Given the description of an element on the screen output the (x, y) to click on. 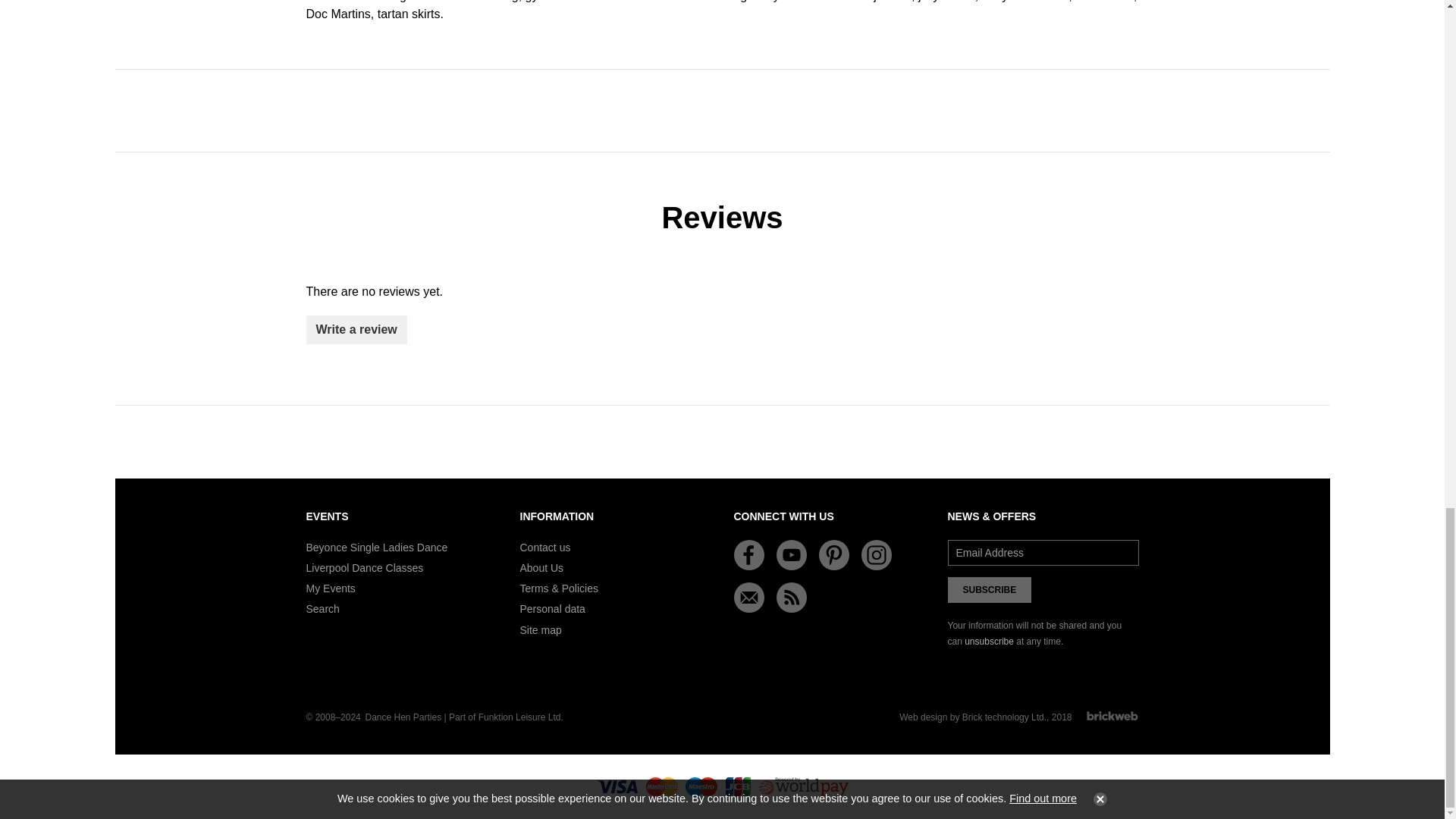
Subscribe (989, 589)
Dance Hen Parties YouTube (791, 554)
Find the event you are looking for (322, 609)
Dance Hen Parties Facebook (749, 554)
Write a review (356, 329)
